Given the description of an element on the screen output the (x, y) to click on. 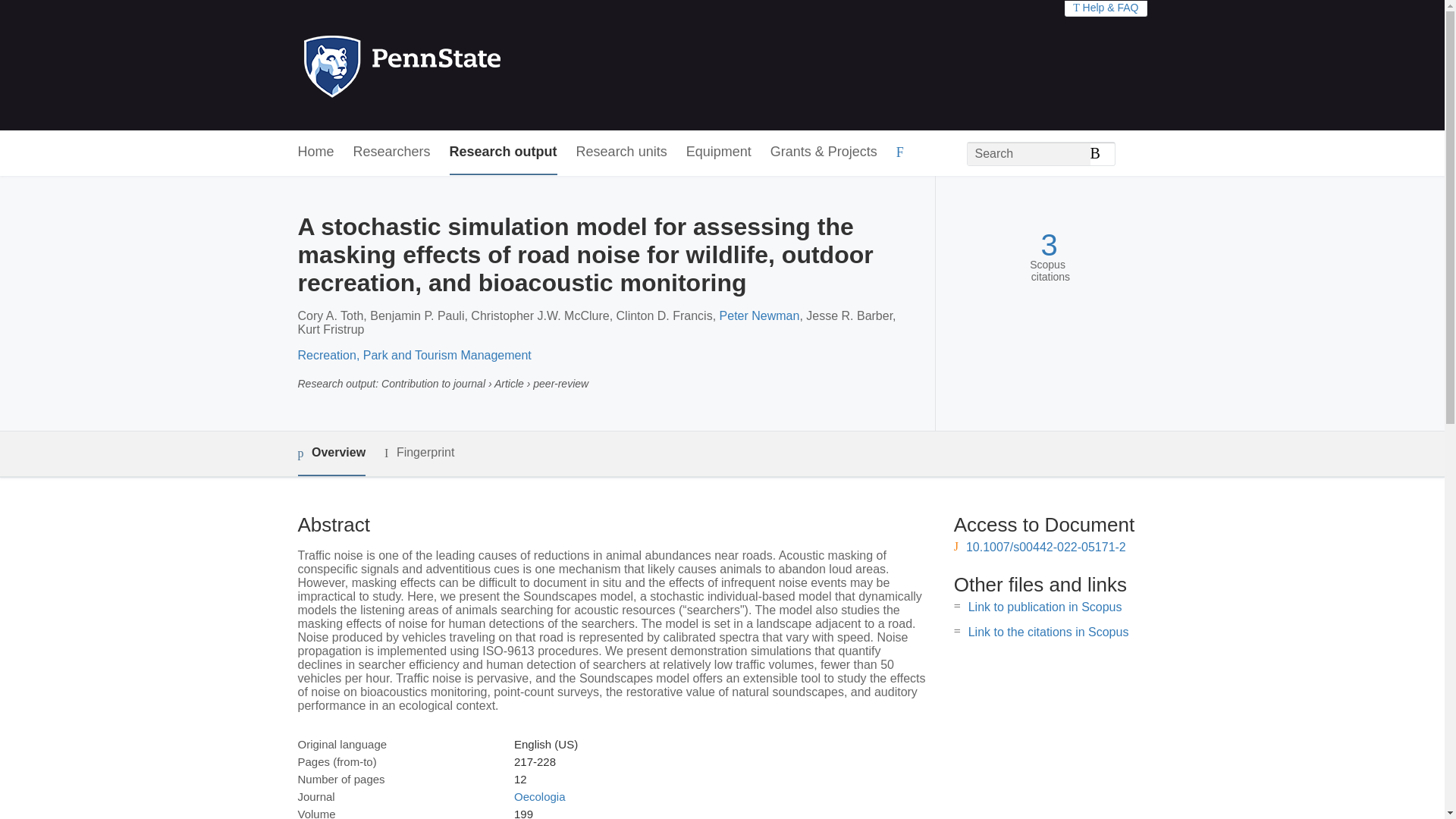
Equipment (718, 152)
Research output (503, 152)
Research units (621, 152)
Fingerprint (419, 453)
Overview (331, 453)
Link to publication in Scopus (1045, 606)
Researchers (391, 152)
Peter Newman (759, 315)
Link to the citations in Scopus (1048, 631)
Oecologia (539, 796)
Recreation, Park and Tourism Management (414, 354)
Penn State Home (467, 65)
